Given the description of an element on the screen output the (x, y) to click on. 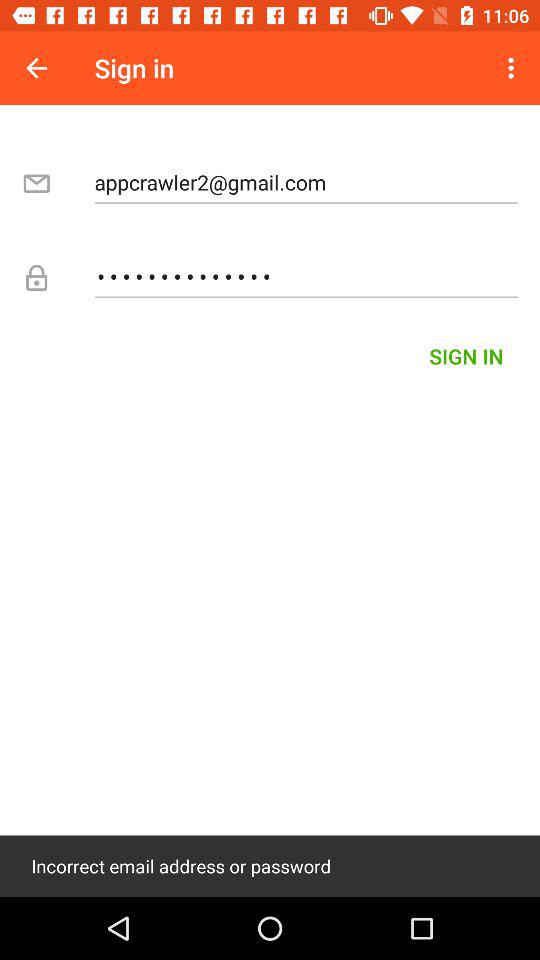
go back (36, 68)
